Given the description of an element on the screen output the (x, y) to click on. 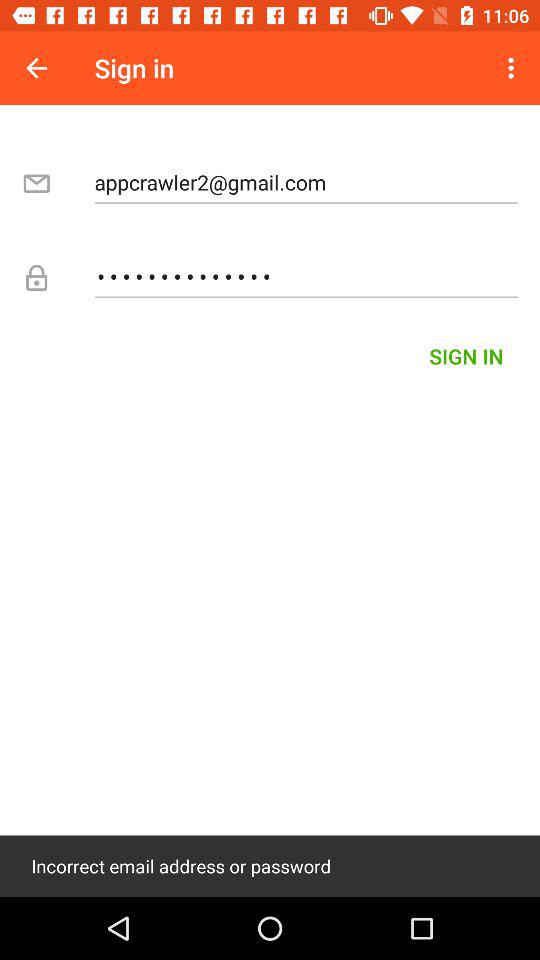
go back (36, 68)
